Given the description of an element on the screen output the (x, y) to click on. 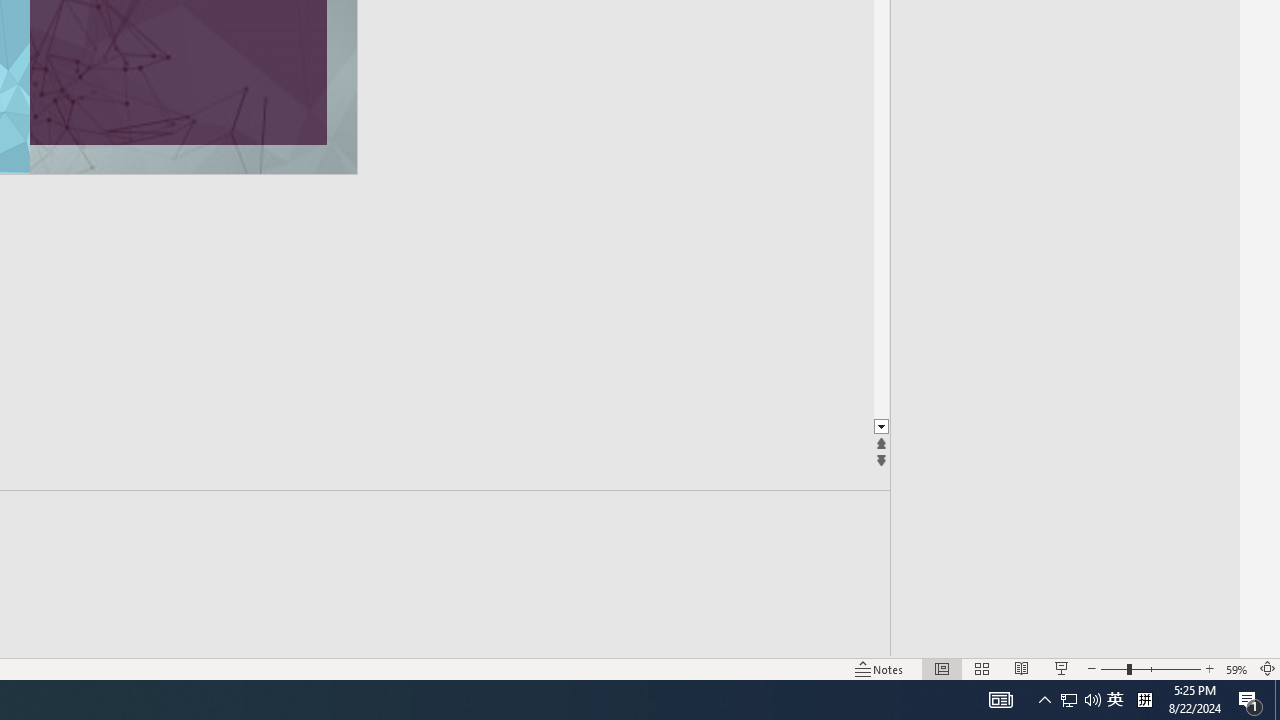
Zoom 59% (1236, 668)
